Given the description of an element on the screen output the (x, y) to click on. 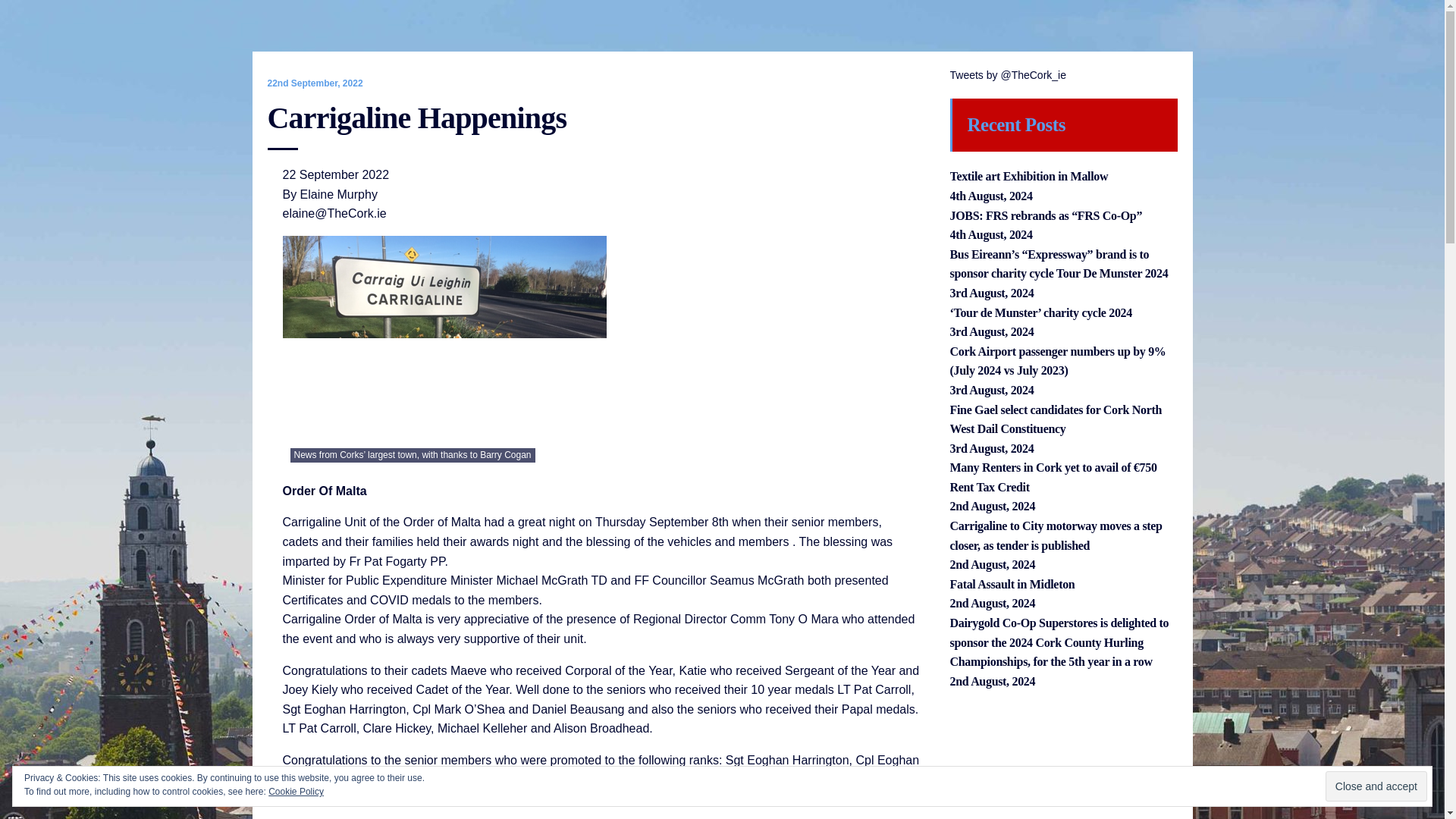
Close and accept (1375, 786)
